Given the description of an element on the screen output the (x, y) to click on. 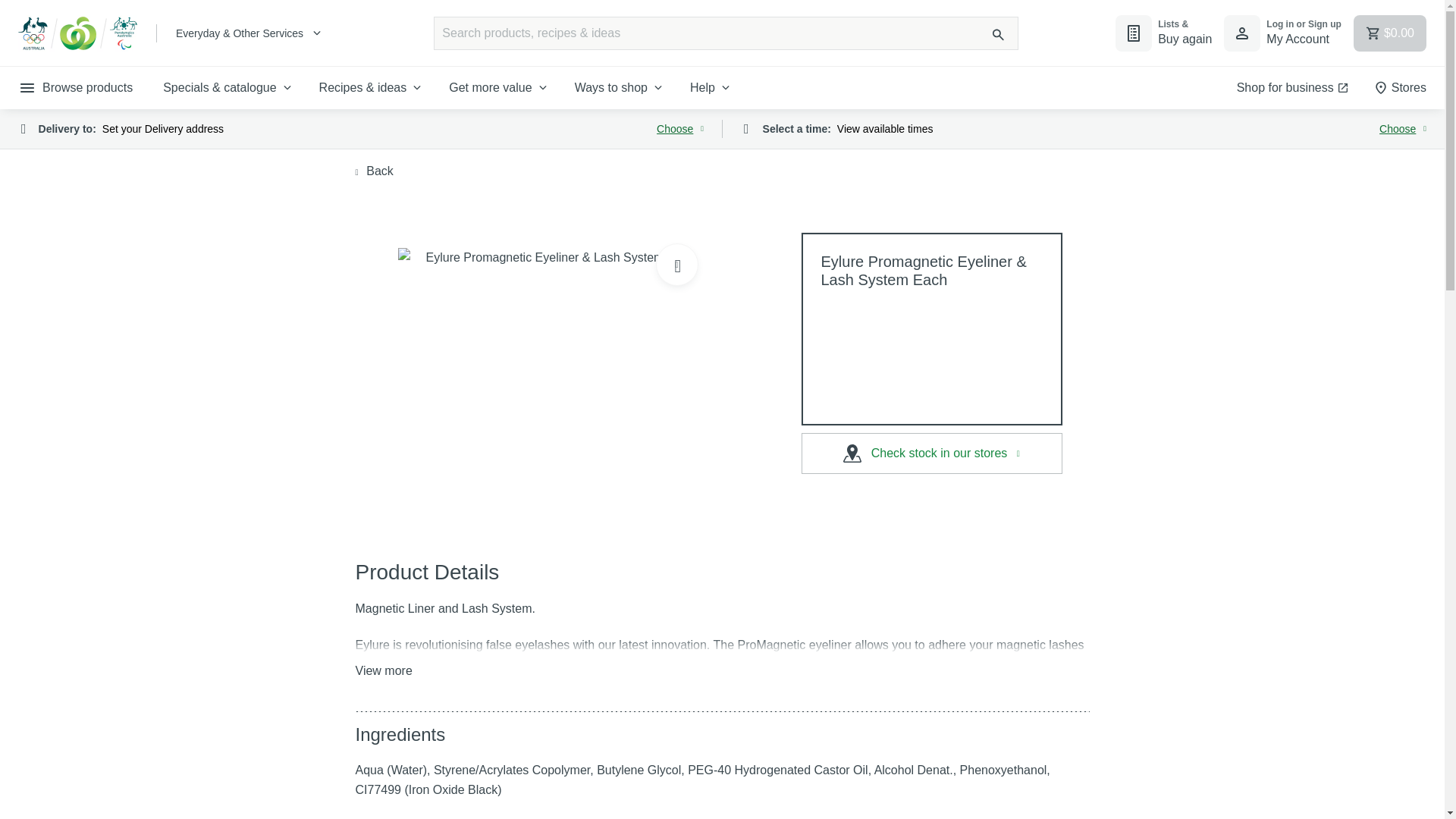
Back (361, 128)
Ways to shop (374, 171)
Shop for business (620, 87)
View more (1292, 87)
Help (383, 671)
Stores (1282, 33)
Check stock in our stores (711, 87)
Search (1399, 87)
